Given the description of an element on the screen output the (x, y) to click on. 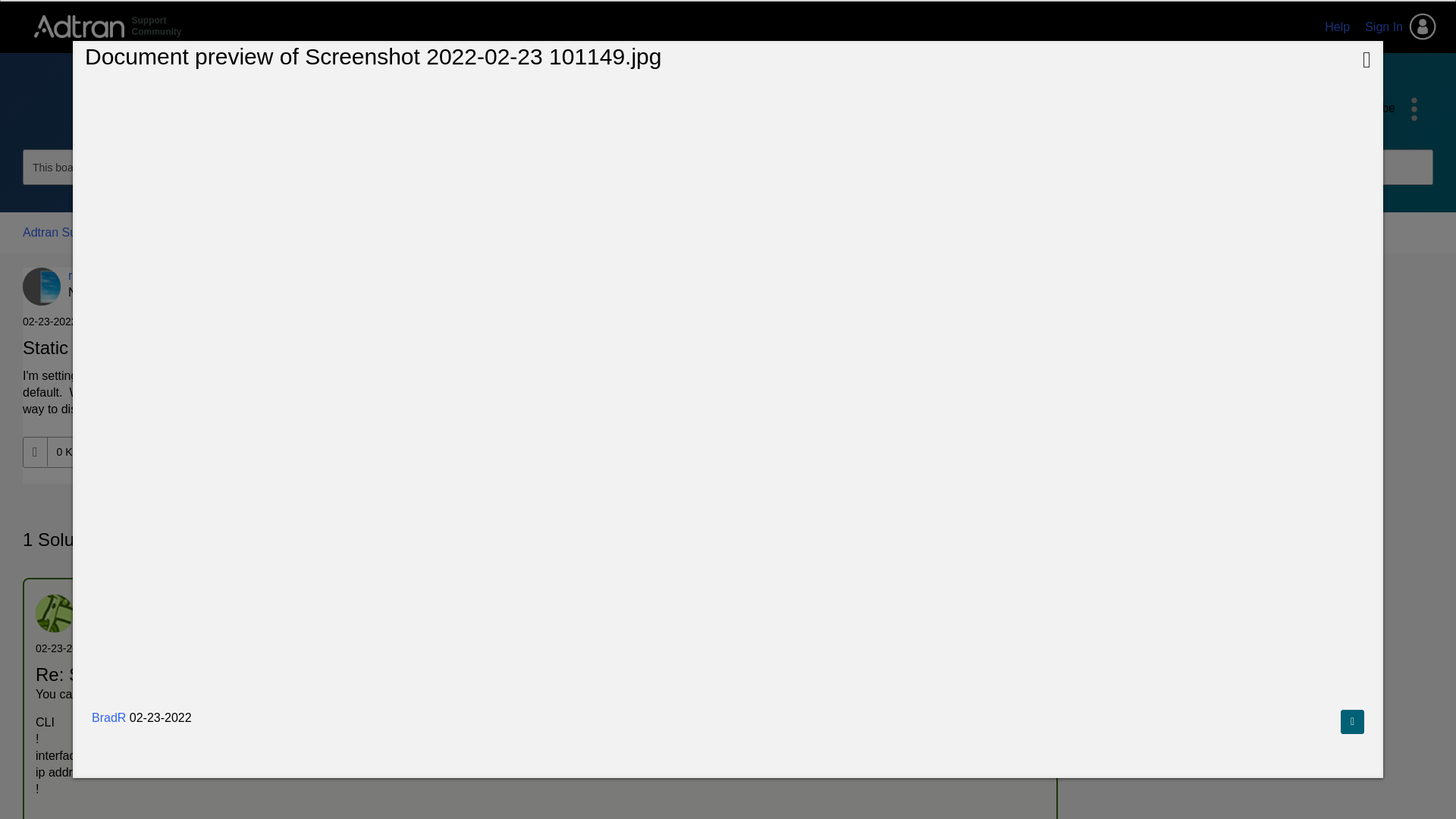
Sign In (1400, 26)
Download document (1352, 721)
Search Granularity (80, 166)
Search (155, 105)
Adtran Support Community (107, 26)
Show option menu (95, 232)
Jump to solution (1039, 284)
richsch1969 (326, 352)
BradR (42, 286)
